Given the description of an element on the screen output the (x, y) to click on. 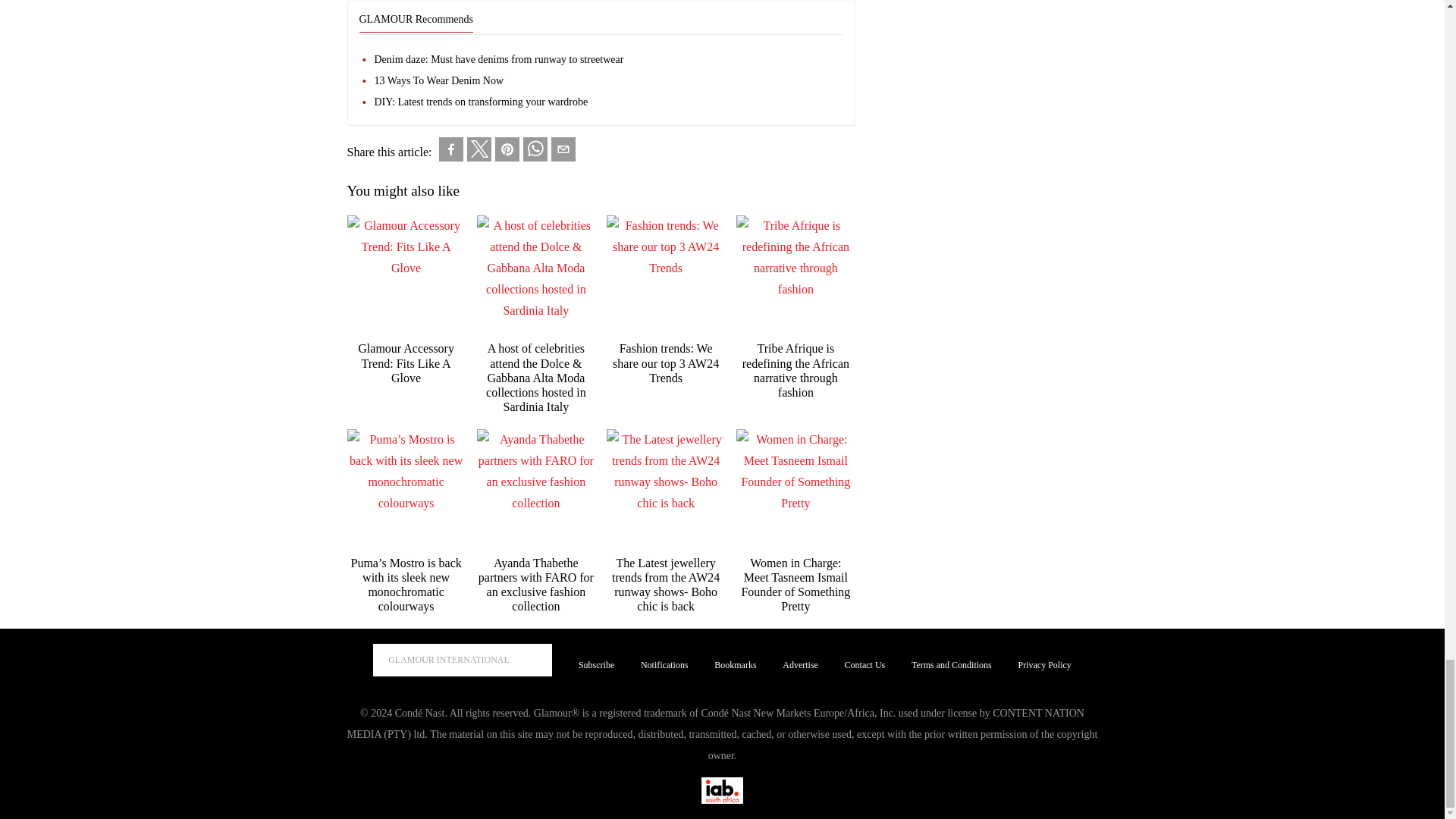
13 Ways To Wear Denim Now (608, 81)
DIY: Latest trends on transforming your wardrobe (608, 102)
Share on Twitter (479, 149)
Denim daze: Must have denims from runway to streetwear (608, 60)
